Given the description of an element on the screen output the (x, y) to click on. 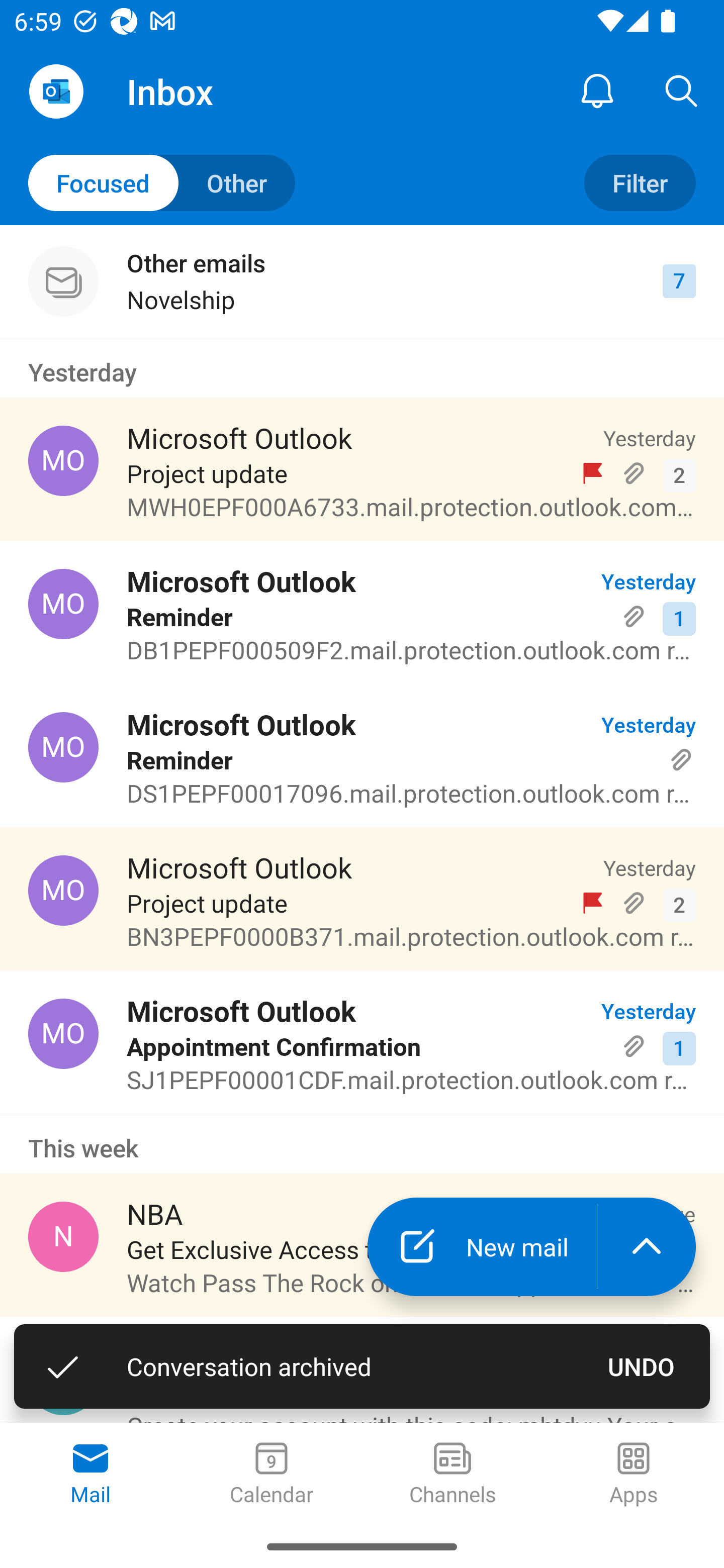
Notification Center (597, 90)
Search, ,  (681, 90)
Open Navigation Drawer (55, 91)
Toggle to other mails (161, 183)
Filter (639, 183)
Other emails Novelship 7 (362, 281)
New mail (481, 1246)
launch the extended action menu (646, 1246)
NBA, NBA@email.nba.com (63, 1236)
UNDO (641, 1366)
TicketSwap, info@ticketswap.com (63, 1380)
Calendar (271, 1474)
Channels (452, 1474)
Apps (633, 1474)
